Given the description of an element on the screen output the (x, y) to click on. 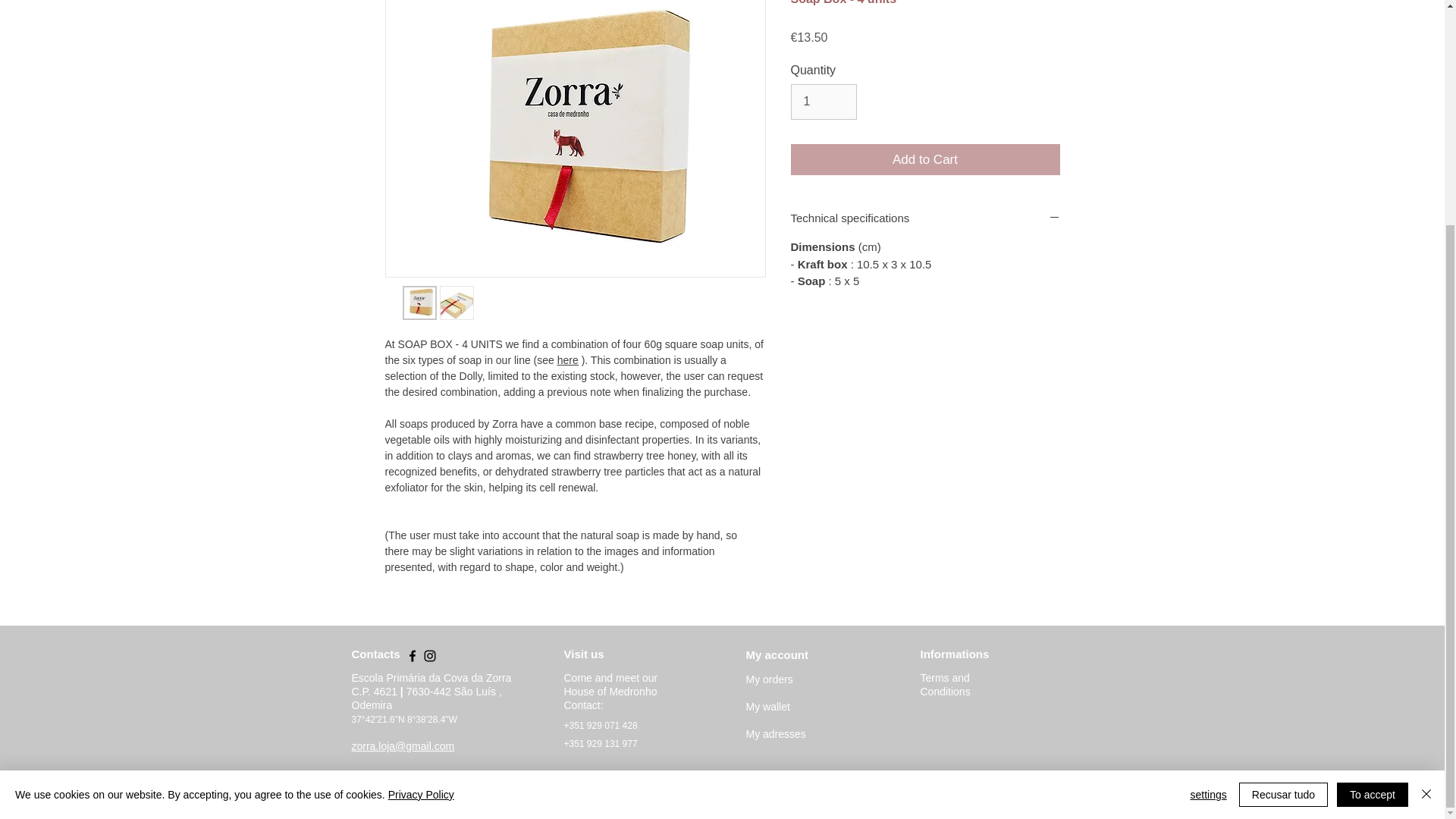
My account (777, 654)
Visit us (584, 653)
To accept (1371, 494)
My orders (769, 678)
here (567, 359)
Add to Cart (924, 160)
Technical specifications (924, 218)
My adresses (775, 733)
Privacy Policy (421, 494)
1 (823, 101)
